Given the description of an element on the screen output the (x, y) to click on. 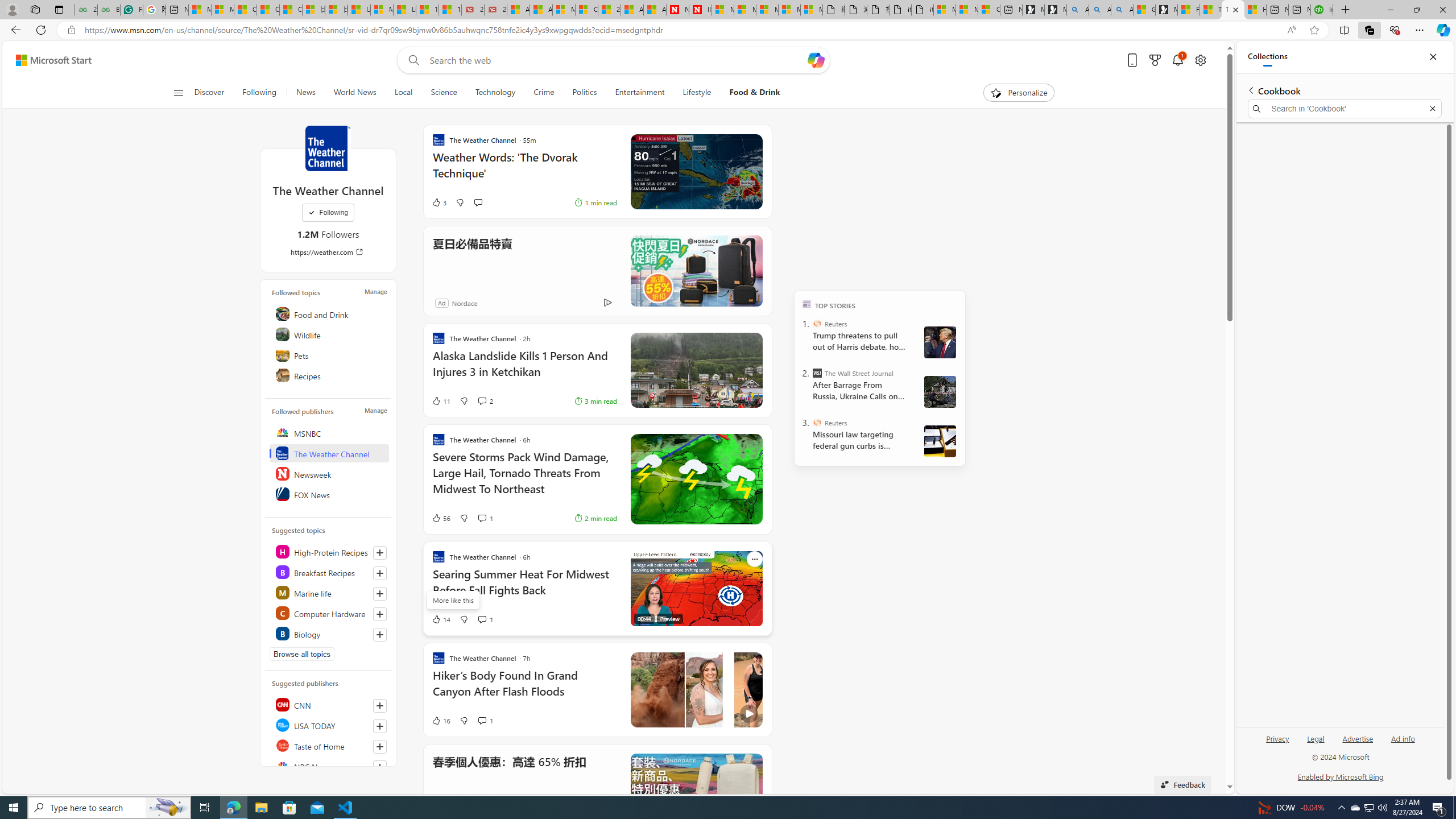
11 Like (440, 400)
Alaska Landslide Kills 1 Person And Injures 3 in Ketchikan (524, 369)
14 Like (440, 619)
